Given the description of an element on the screen output the (x, y) to click on. 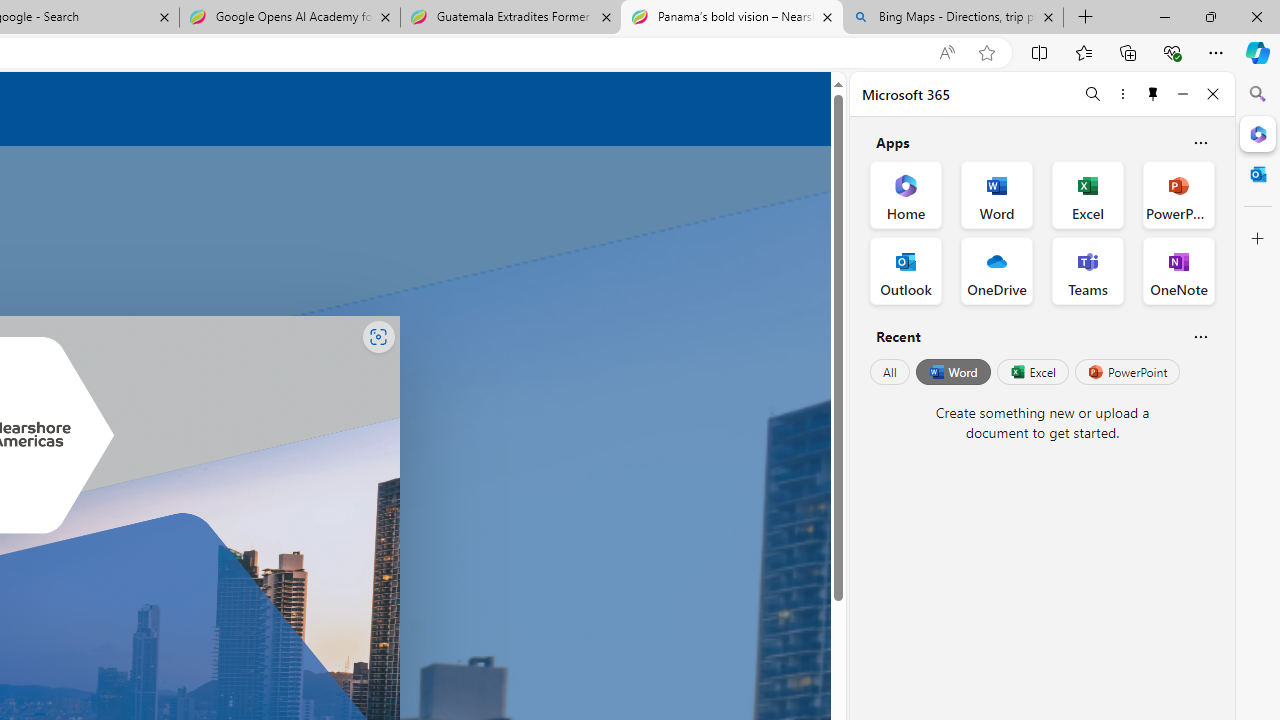
Home Office App (906, 194)
Google Opens AI Academy for Startups - Nearshore Americas (290, 17)
All (890, 372)
Unpin side pane (1153, 93)
Word Office App (996, 194)
